Given the description of an element on the screen output the (x, y) to click on. 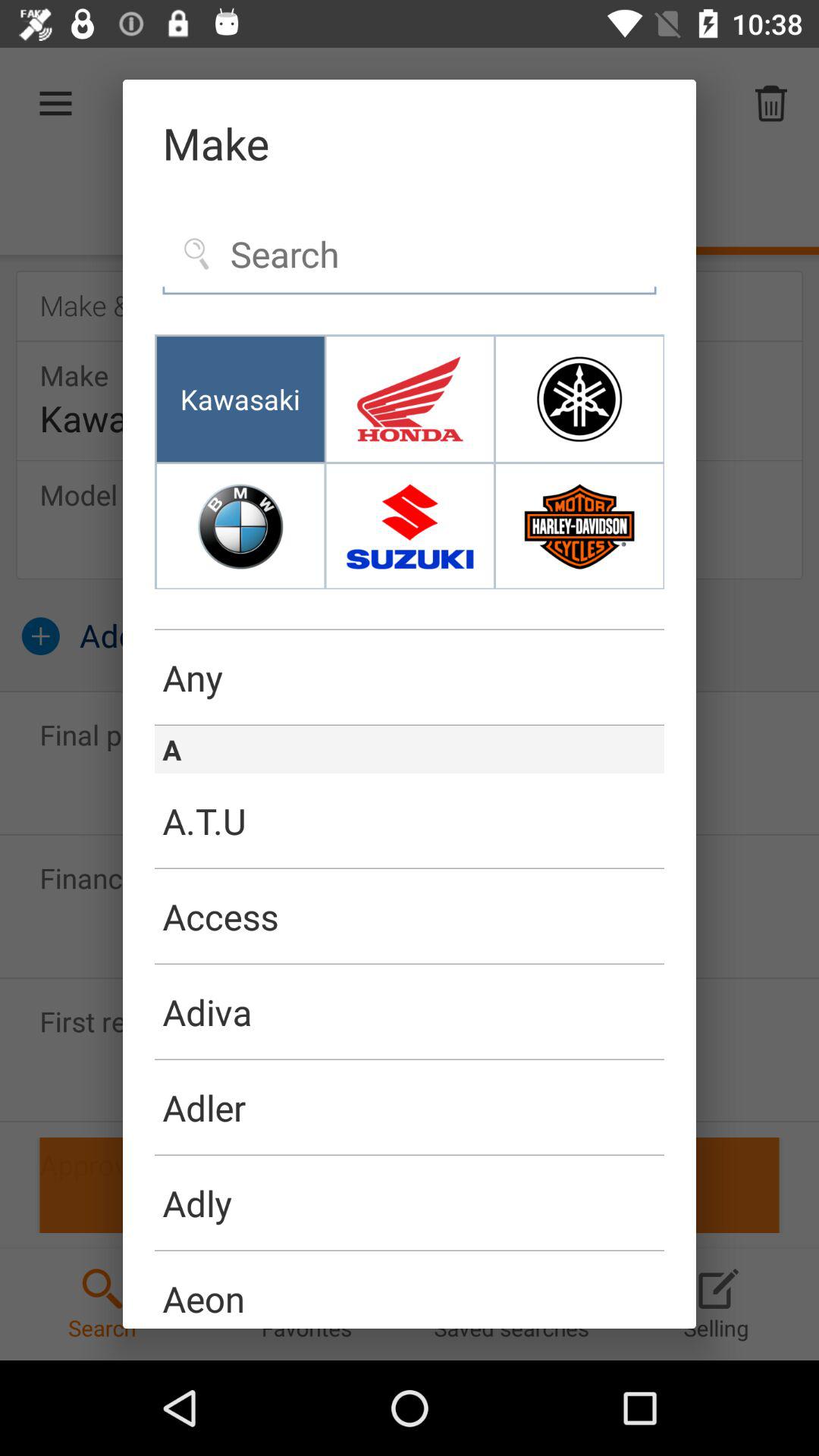
turn on aeon icon (409, 1289)
